Given the description of an element on the screen output the (x, y) to click on. 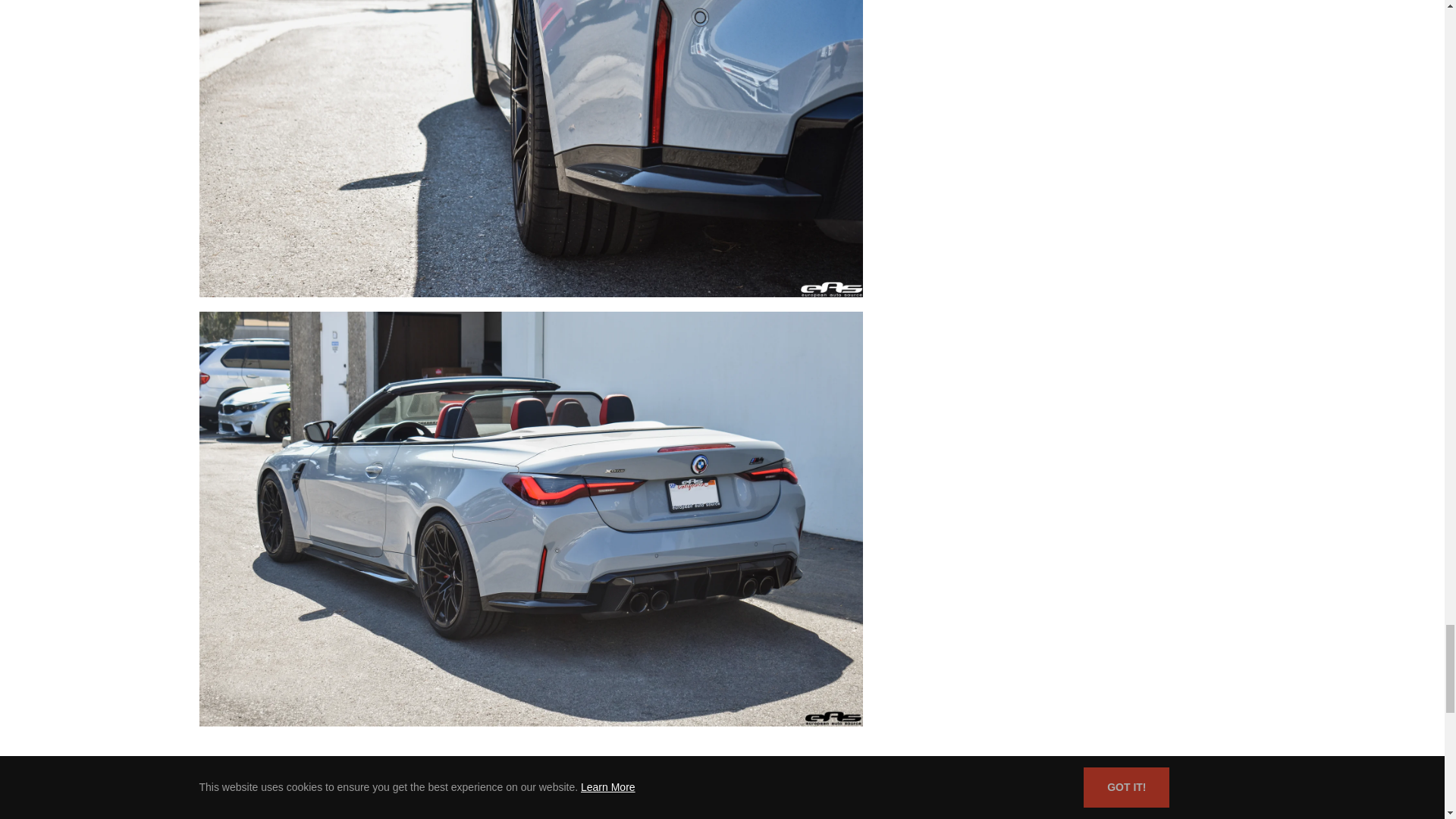
Show articles tagged kw has (513, 817)
Show articles tagged bmw m4 (231, 817)
Show articles tagged brooklyn grey (318, 817)
Show articles tagged g83 (395, 817)
Show articles tagged g83 m4 (448, 817)
